Given the description of an element on the screen output the (x, y) to click on. 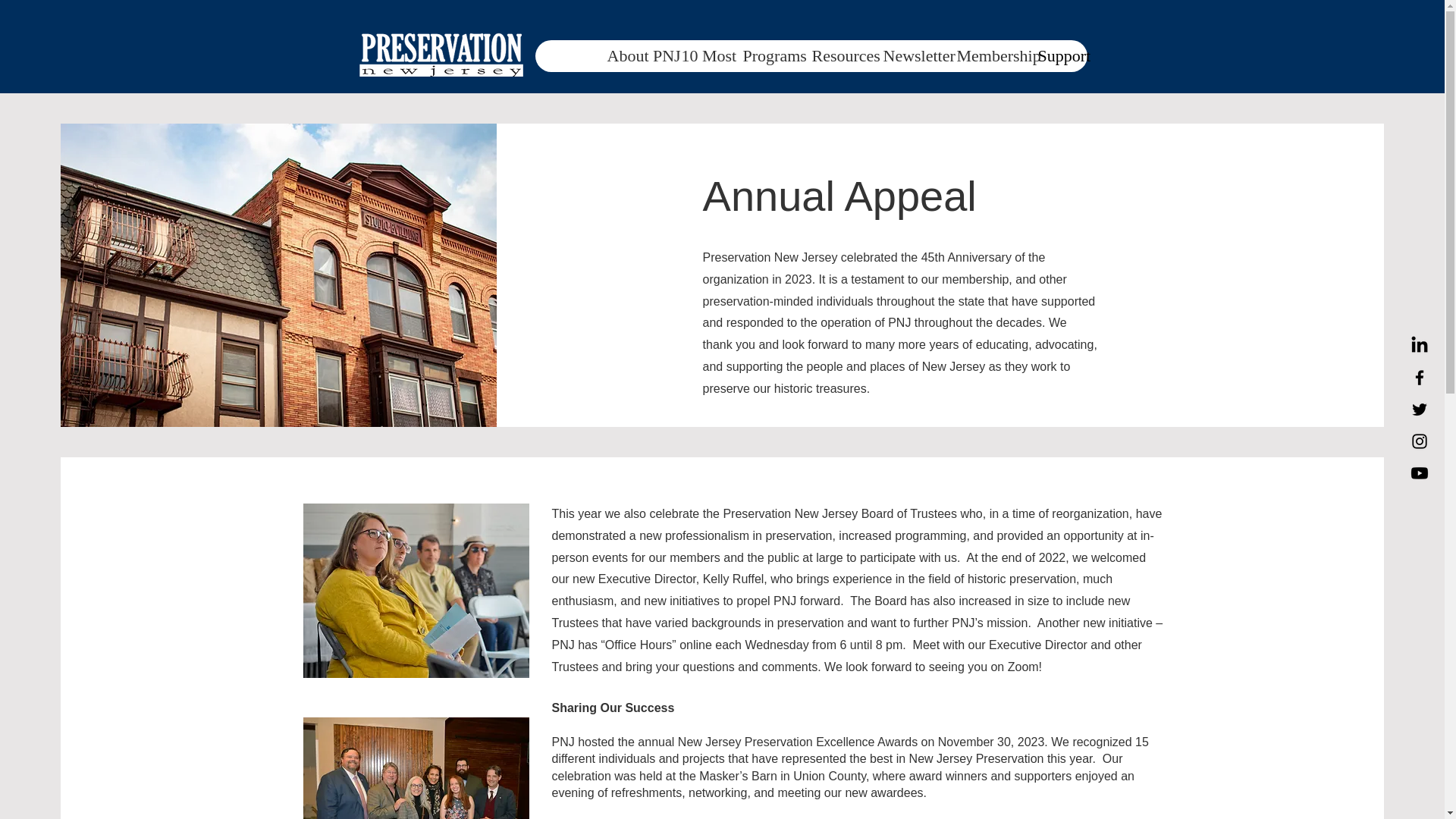
Membership (985, 56)
Resources (834, 56)
10 Most (699, 56)
Programs (764, 56)
Newsletter (906, 56)
Support (1055, 56)
